Given the description of an element on the screen output the (x, y) to click on. 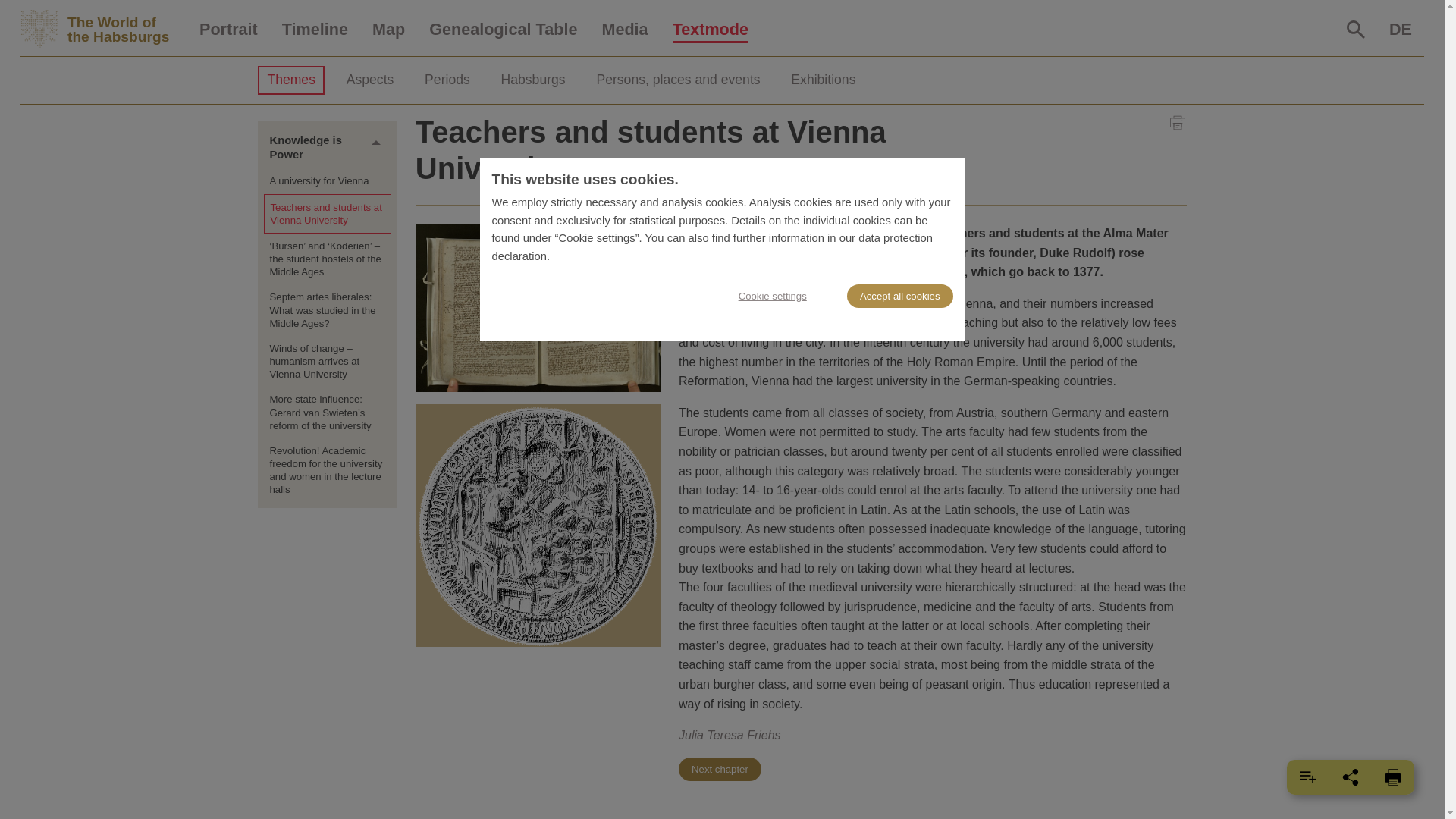
Textmode (710, 29)
Portrait (228, 29)
Timeline (314, 29)
Map (387, 29)
search (1356, 29)
Toggle menu (376, 142)
DE (1400, 29)
search (103, 29)
Genealogical Table (1355, 29)
Media (502, 29)
Die Welt der Habsburger Home (624, 29)
